Given the description of an element on the screen output the (x, y) to click on. 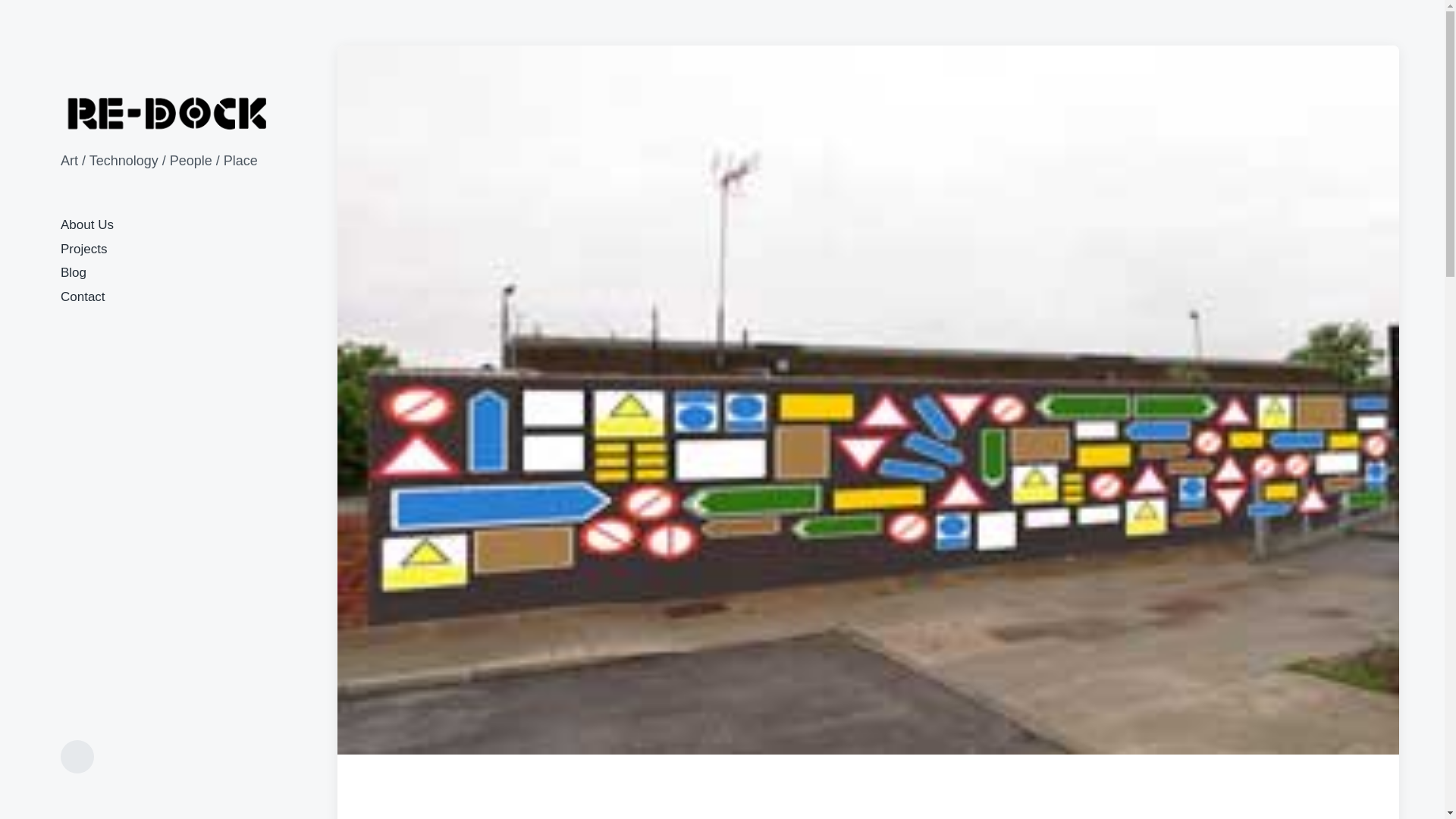
Re-Dock (168, 112)
About Us (87, 224)
Contact (82, 296)
Blog (73, 272)
Toggle the search field (77, 756)
Projects (83, 248)
